Given the description of an element on the screen output the (x, y) to click on. 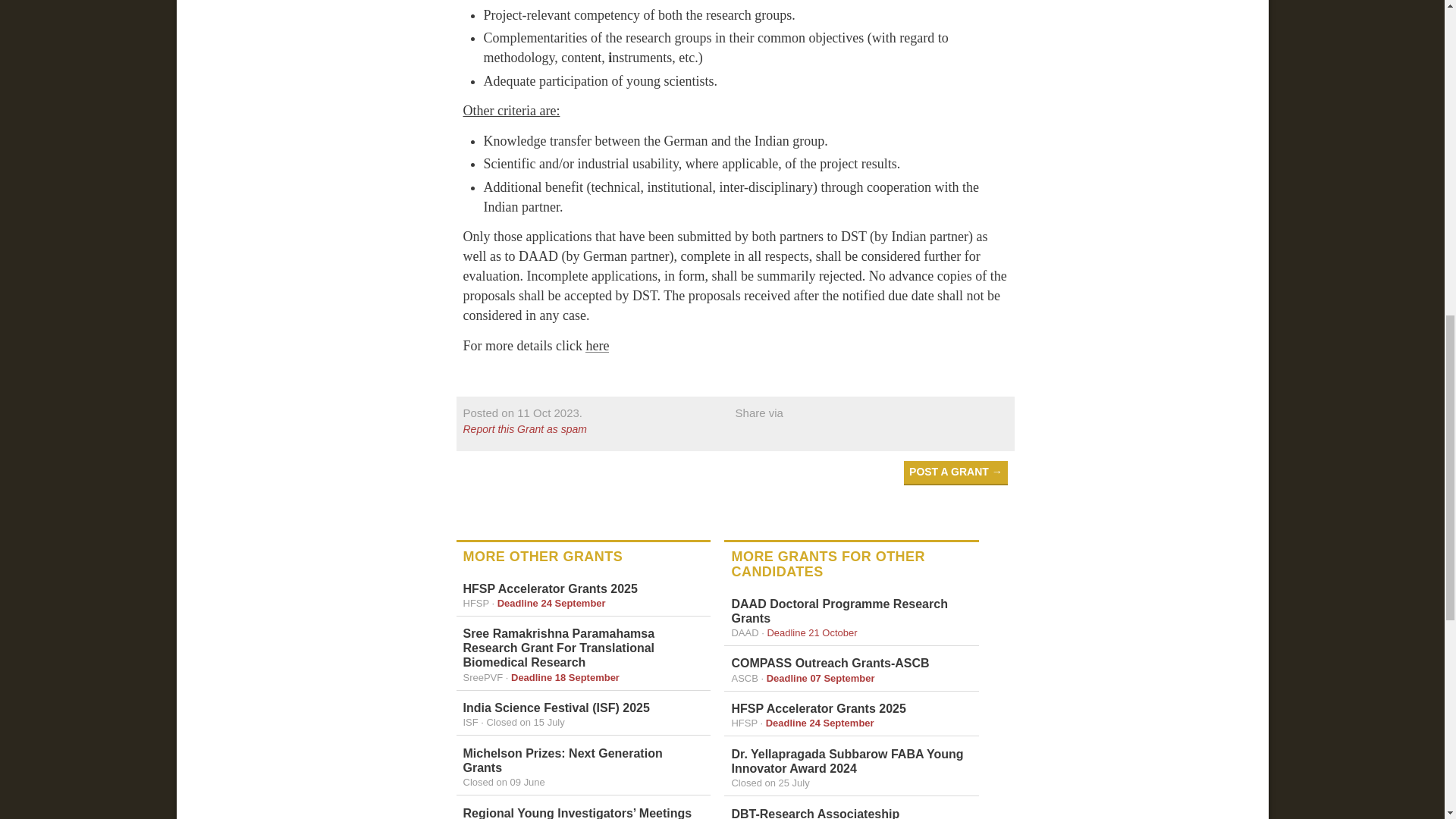
LinkedIn (772, 434)
15 July 2024 (525, 722)
24 September 2024 (551, 603)
Email (854, 434)
Link to this page (521, 412)
here (596, 345)
Facebook (800, 434)
18 September 2024 (565, 677)
Twitter (745, 434)
Posted on 11 Oct 2023. (521, 412)
